Given the description of an element on the screen output the (x, y) to click on. 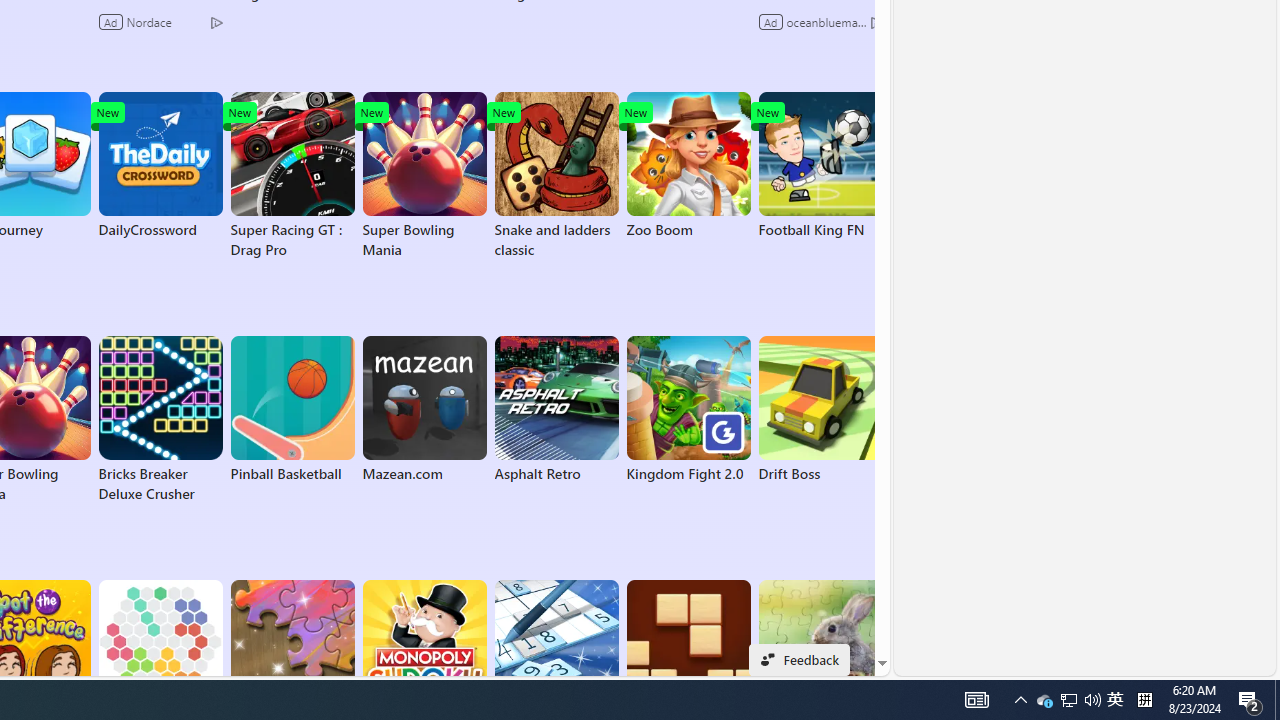
Snake and ladders classic (556, 175)
